Given the description of an element on the screen output the (x, y) to click on. 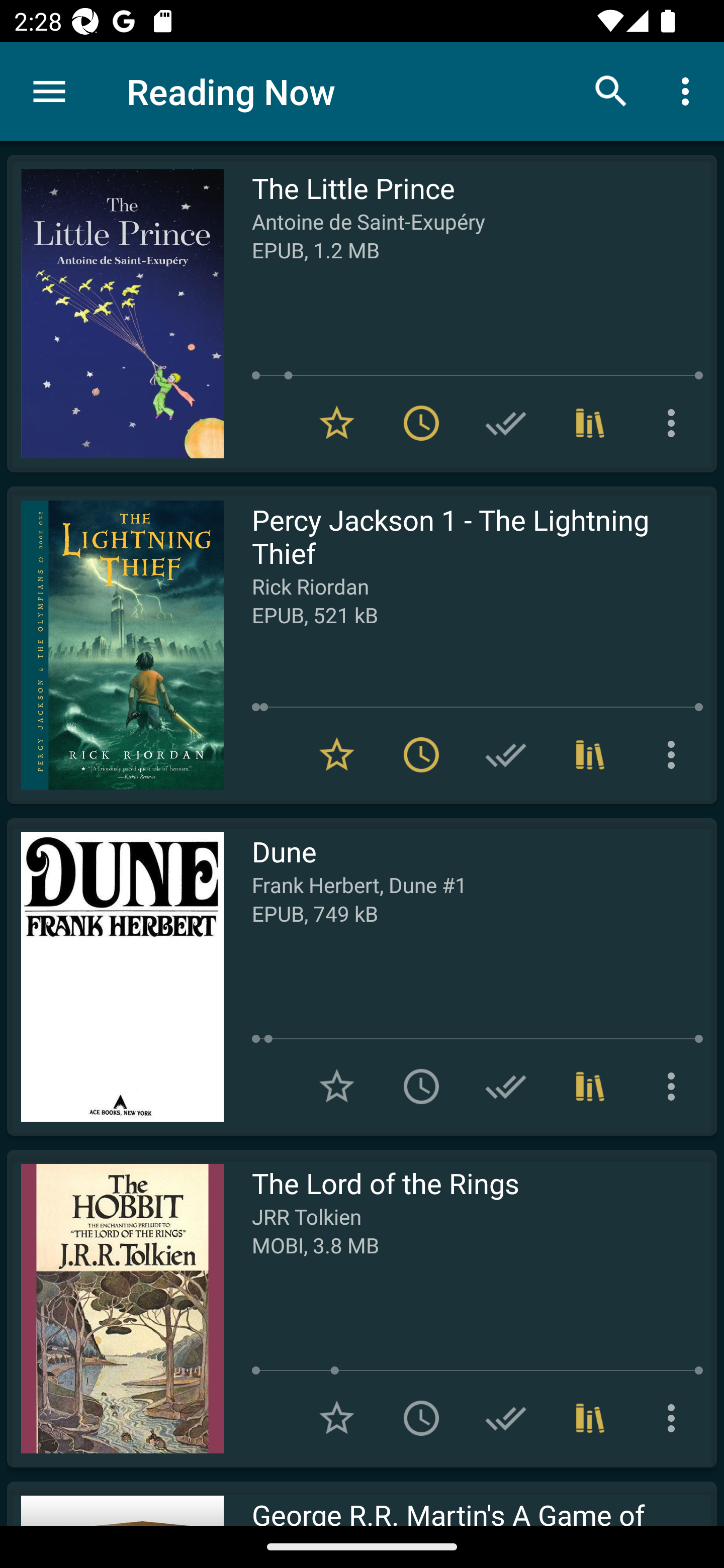
Menu (49, 91)
Search books & documents (611, 90)
More options (688, 90)
Read The Little Prince (115, 313)
Remove from Favorites (336, 423)
Remove from To read (421, 423)
Add to Have read (505, 423)
Collections (1) (590, 423)
More options (674, 423)
Read Percy Jackson 1 - The Lightning Thief (115, 645)
Remove from Favorites (336, 753)
Remove from To read (421, 753)
Add to Have read (505, 753)
Collections (1) (590, 753)
More options (674, 753)
Read Dune (115, 976)
Add to Favorites (336, 1086)
Add to To read (421, 1086)
Add to Have read (505, 1086)
Collections (1) (590, 1086)
More options (674, 1086)
Read The Lord of the Rings (115, 1308)
Add to Favorites (336, 1417)
Add to To read (421, 1417)
Add to Have read (505, 1417)
Collections (1) (590, 1417)
More options (674, 1417)
